Given the description of an element on the screen output the (x, y) to click on. 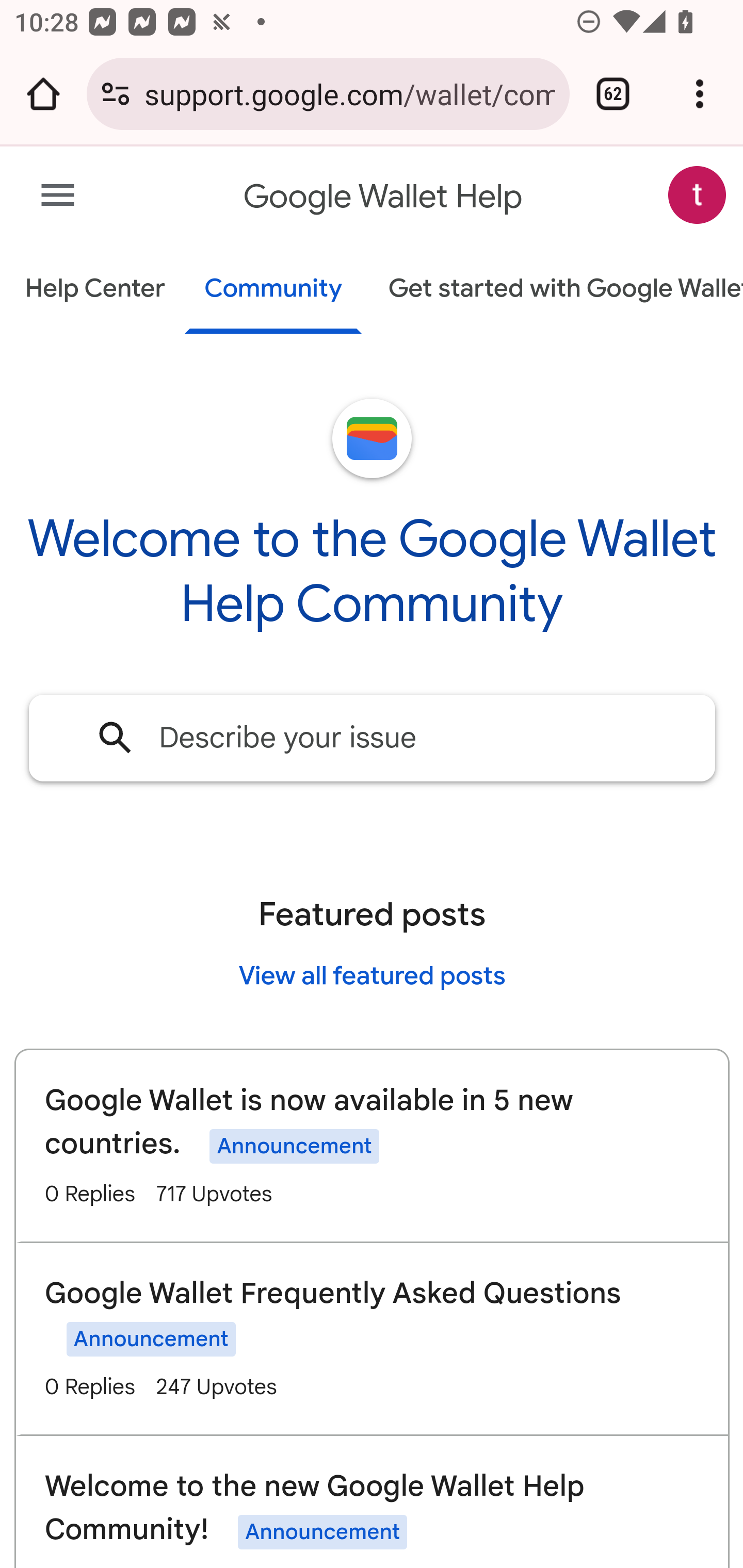
Open the home page (43, 93)
Connection is secure (115, 93)
Switch or close tabs (612, 93)
Customize and control Google Chrome (699, 93)
Main menu (58, 195)
Google Wallet Help (383, 197)
Help Center (94, 289)
Community (273, 289)
Get started with Google Wallet (555, 289)
Search (116, 736)
View all featured posts (371, 975)
